Given the description of an element on the screen output the (x, y) to click on. 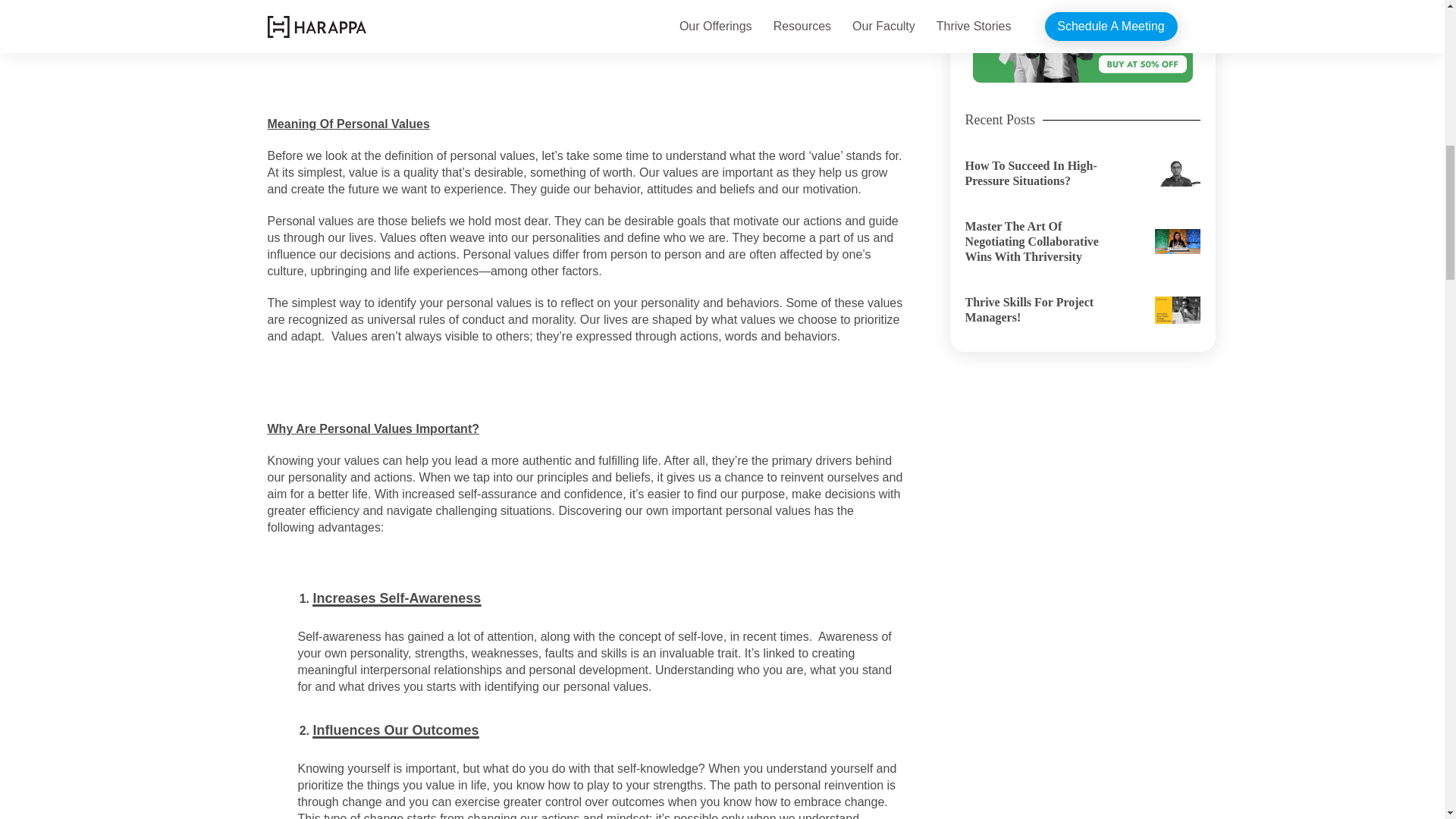
Conclusion (345, 31)
How To Find And Strengthen Your Values (431, 2)
How To Succeed In High-Pressure Situations? (1081, 173)
Thrive Skills For Project Managers! (1081, 309)
WMPbannersidenav (1082, 41)
